Given the description of an element on the screen output the (x, y) to click on. 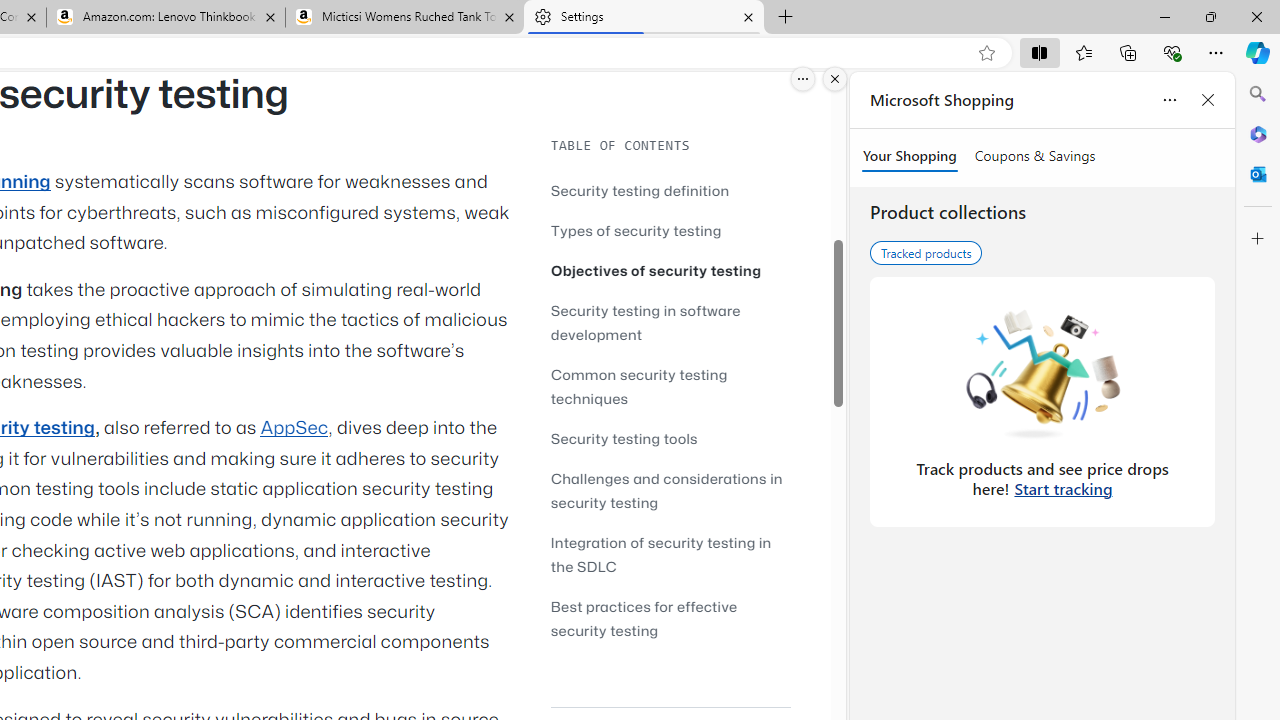
New Tab (785, 17)
Browser essentials (1171, 52)
Microsoft 365 (1258, 133)
Minimize (1164, 16)
Settings and more (Alt+F) (1215, 52)
Common security testing techniques (639, 385)
Security testing definition (670, 190)
Close (1256, 16)
Add this page to favorites (Ctrl+D) (986, 53)
More options. (803, 79)
